Given the description of an element on the screen output the (x, y) to click on. 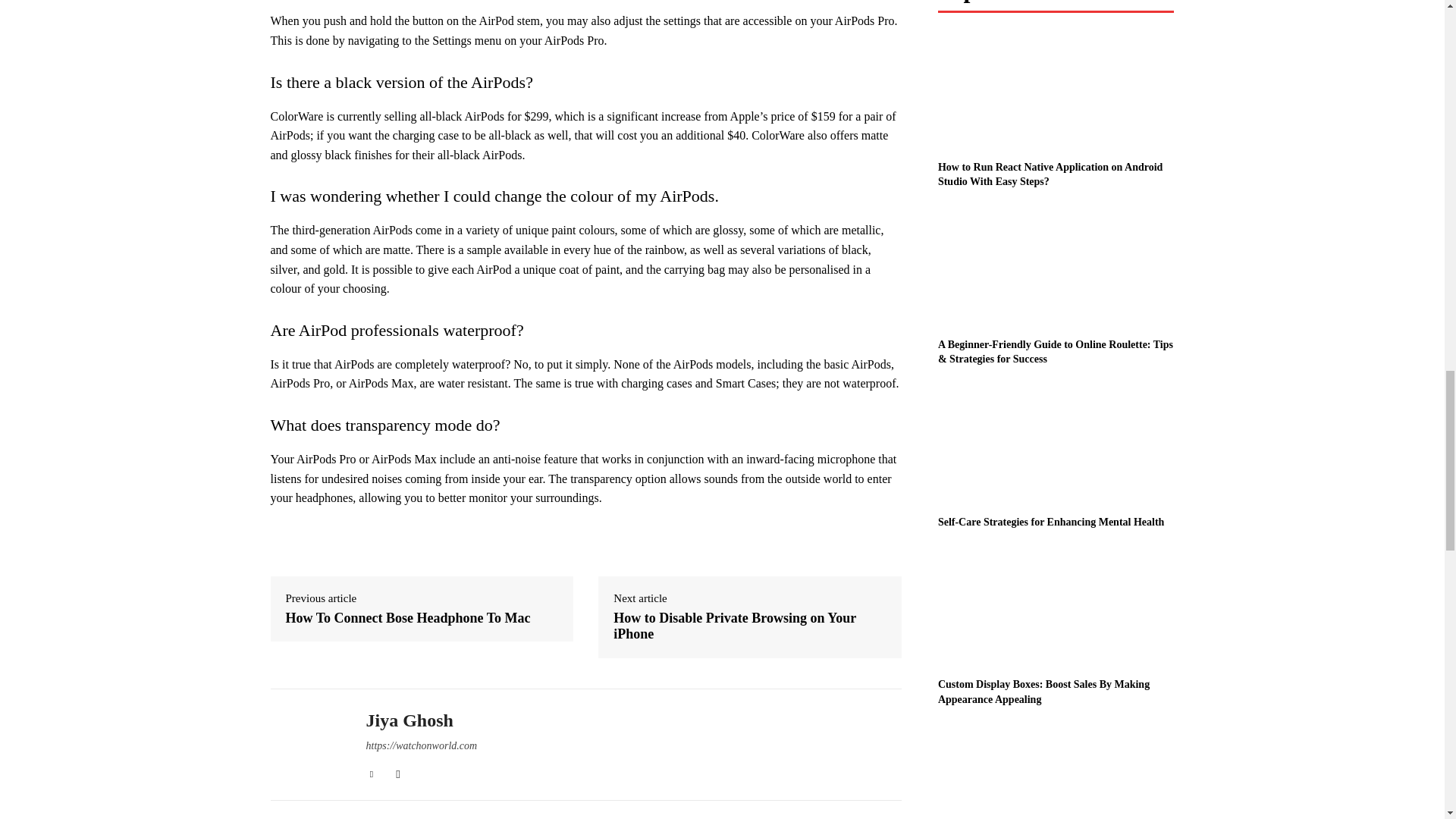
Xing (398, 771)
How To Connect Bose Headphone To Mac (407, 618)
Jiya Ghosh (421, 721)
How to Disable Private Browsing on Your iPhone (749, 626)
Linkedin (371, 771)
Jiya Ghosh (305, 744)
